Given the description of an element on the screen output the (x, y) to click on. 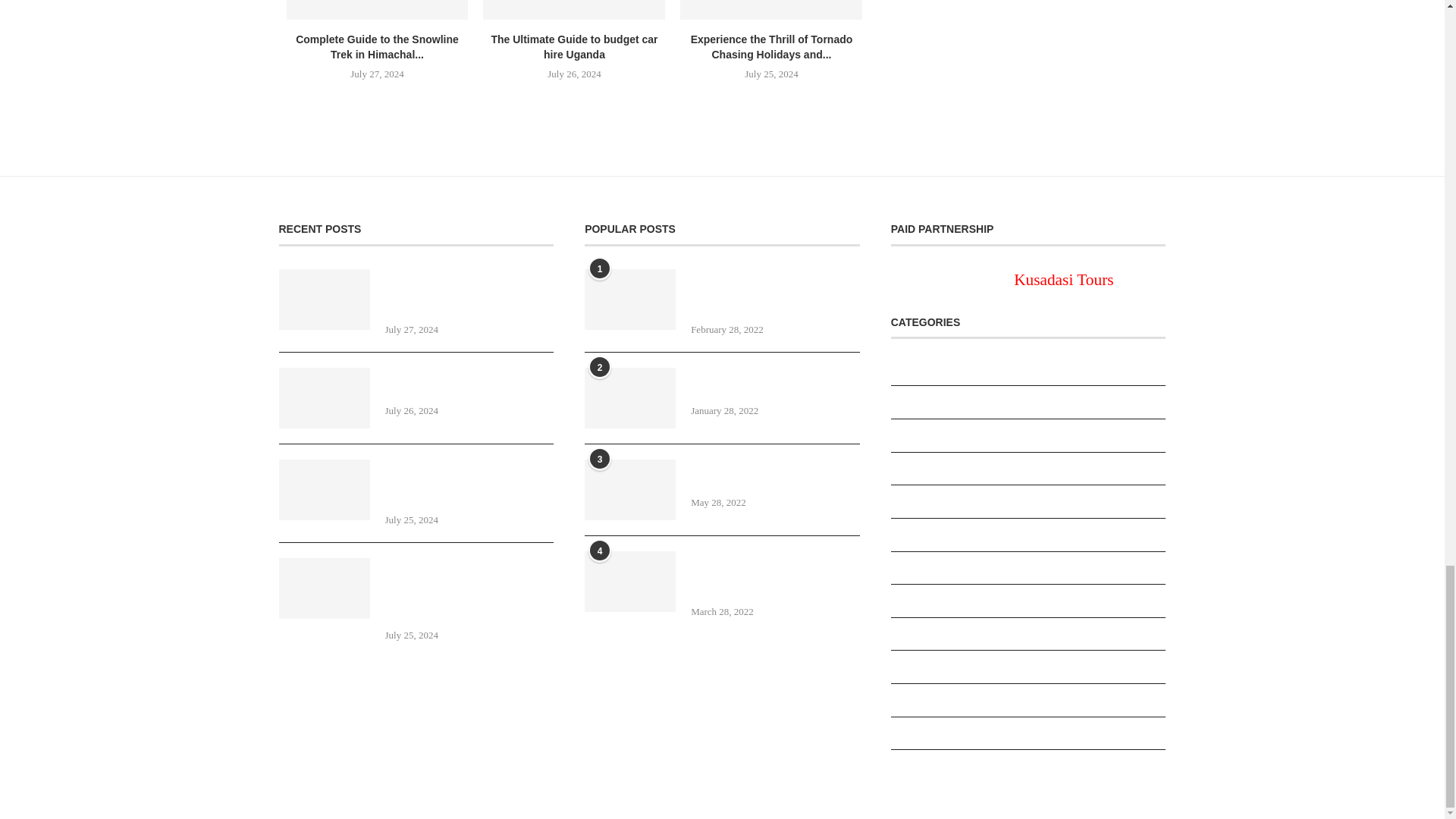
Complete Guide to the Snowline Trek in Himachal Pradesh (377, 9)
The Ultimate Guide to budget car hire Uganda (574, 9)
